Given the description of an element on the screen output the (x, y) to click on. 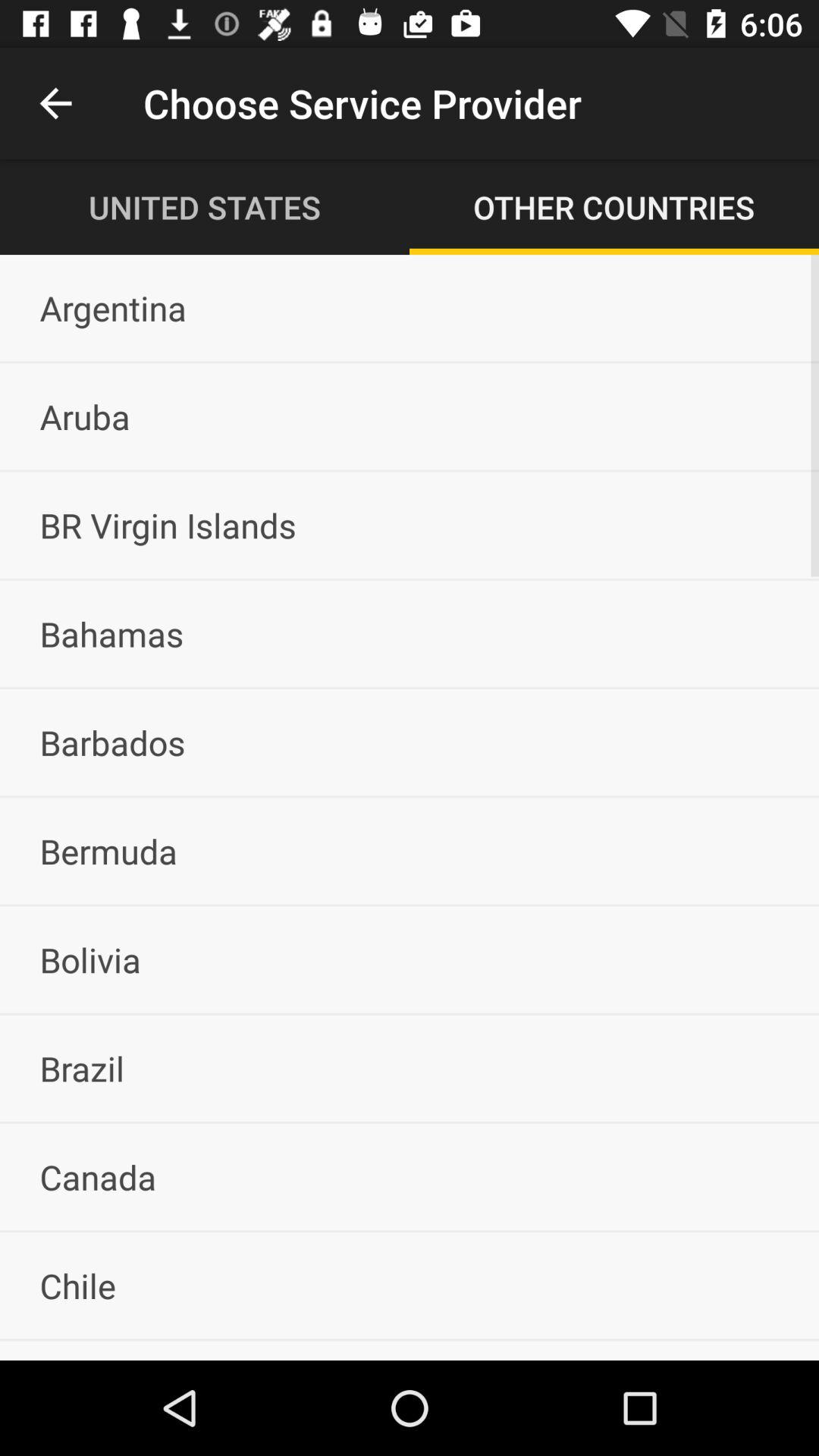
open the item above aruba item (409, 307)
